Given the description of an element on the screen output the (x, y) to click on. 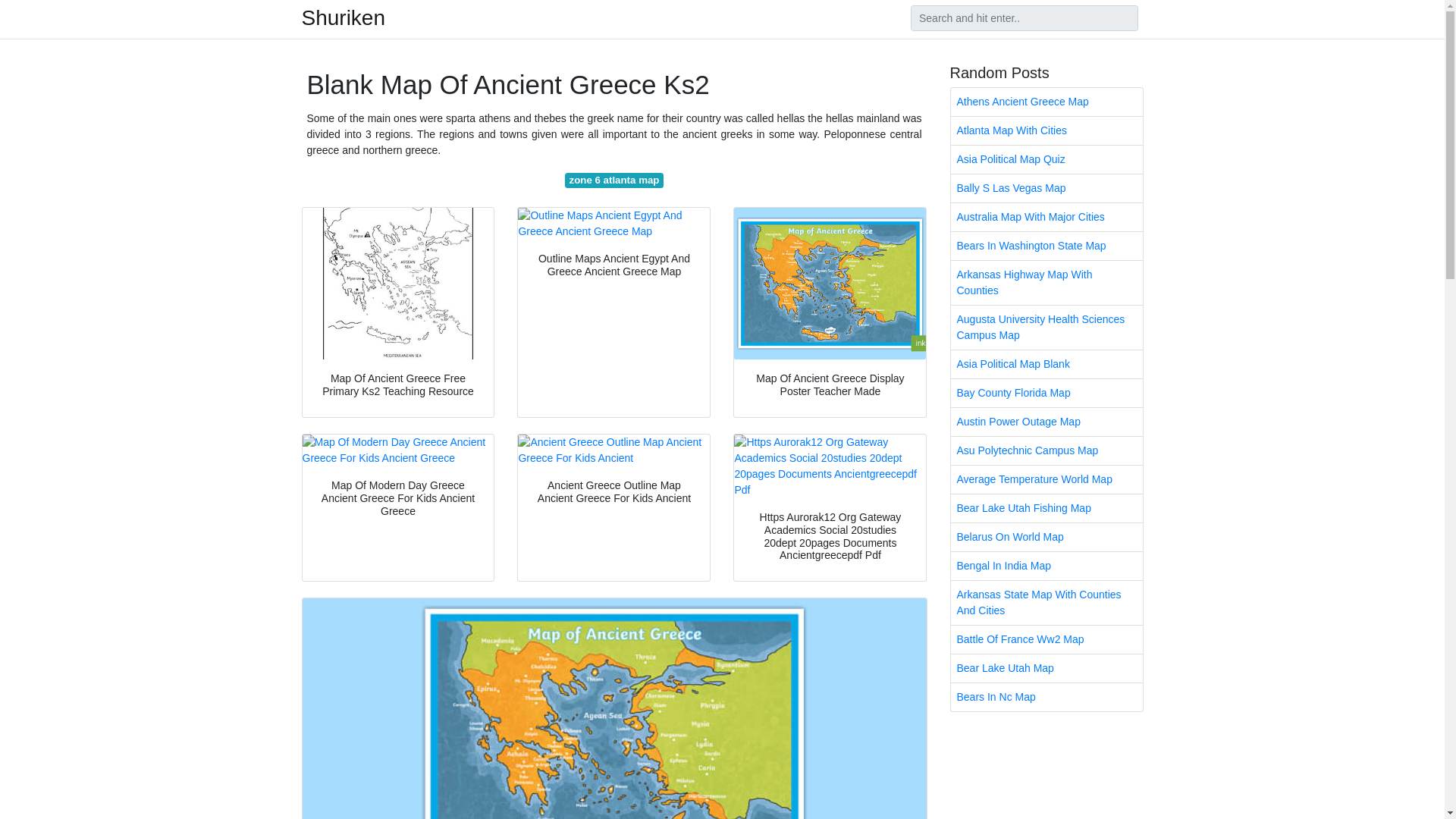
Asia Political Map Blank (1046, 364)
Bears In Washington State Map (1046, 245)
Shuriken (343, 18)
Asu Polytechnic Campus Map (1046, 450)
Atlanta Map With Cities (1046, 130)
Australia Map With Major Cities (1046, 216)
Bay County Florida Map (1046, 393)
Bengal In India Map (1046, 565)
Augusta University Health Sciences Campus Map (1046, 327)
Bally S Las Vegas Map (1046, 188)
